Given the description of an element on the screen output the (x, y) to click on. 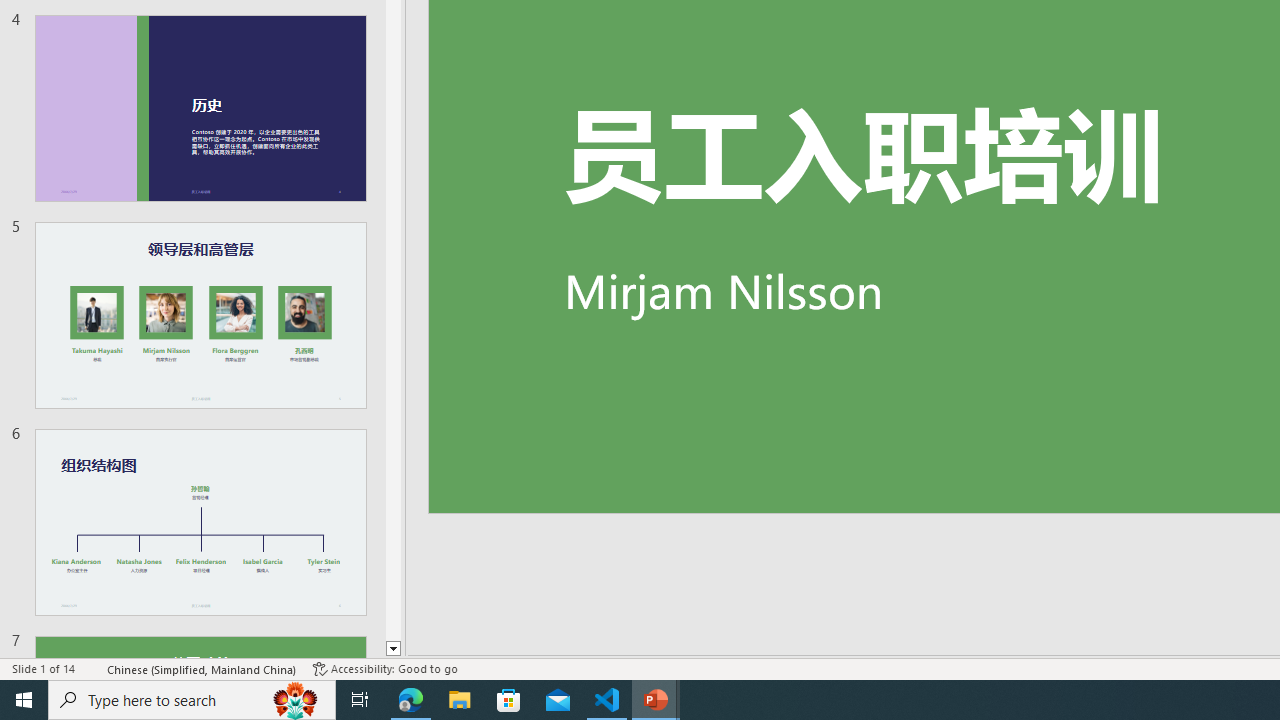
Spell Check  (92, 668)
